Given the description of an element on the screen output the (x, y) to click on. 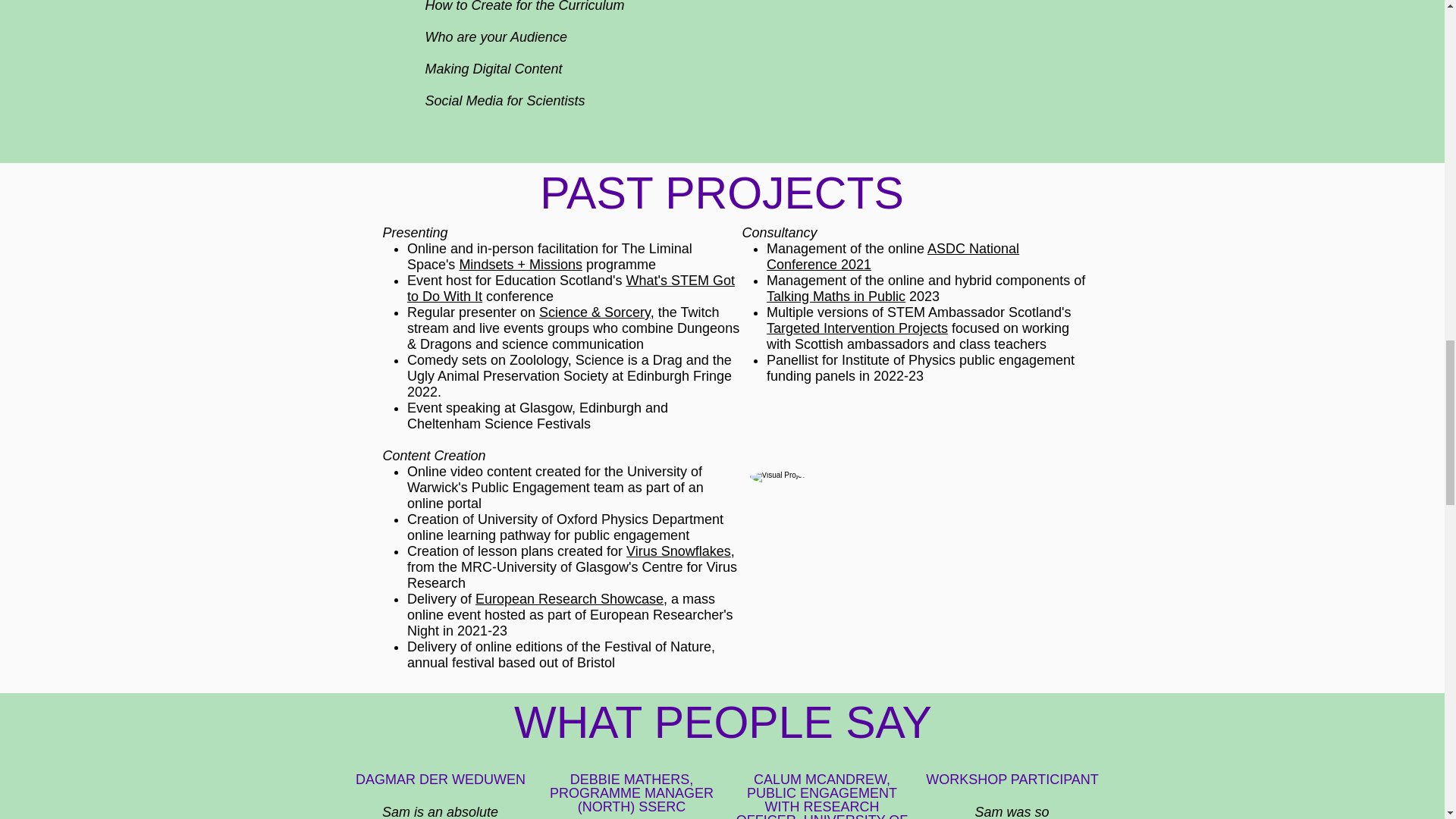
Targeted Intervention Projects (857, 328)
What's STEM Got to Do With It (571, 287)
Talking Maths in Public (836, 296)
Virus Snowflakes (678, 550)
ASDC National Conference 2021 (893, 255)
European Research Showcase (569, 598)
yannis-h-uaPaEM7MiQQ-unsplash.jpg (917, 565)
